Given the description of an element on the screen output the (x, y) to click on. 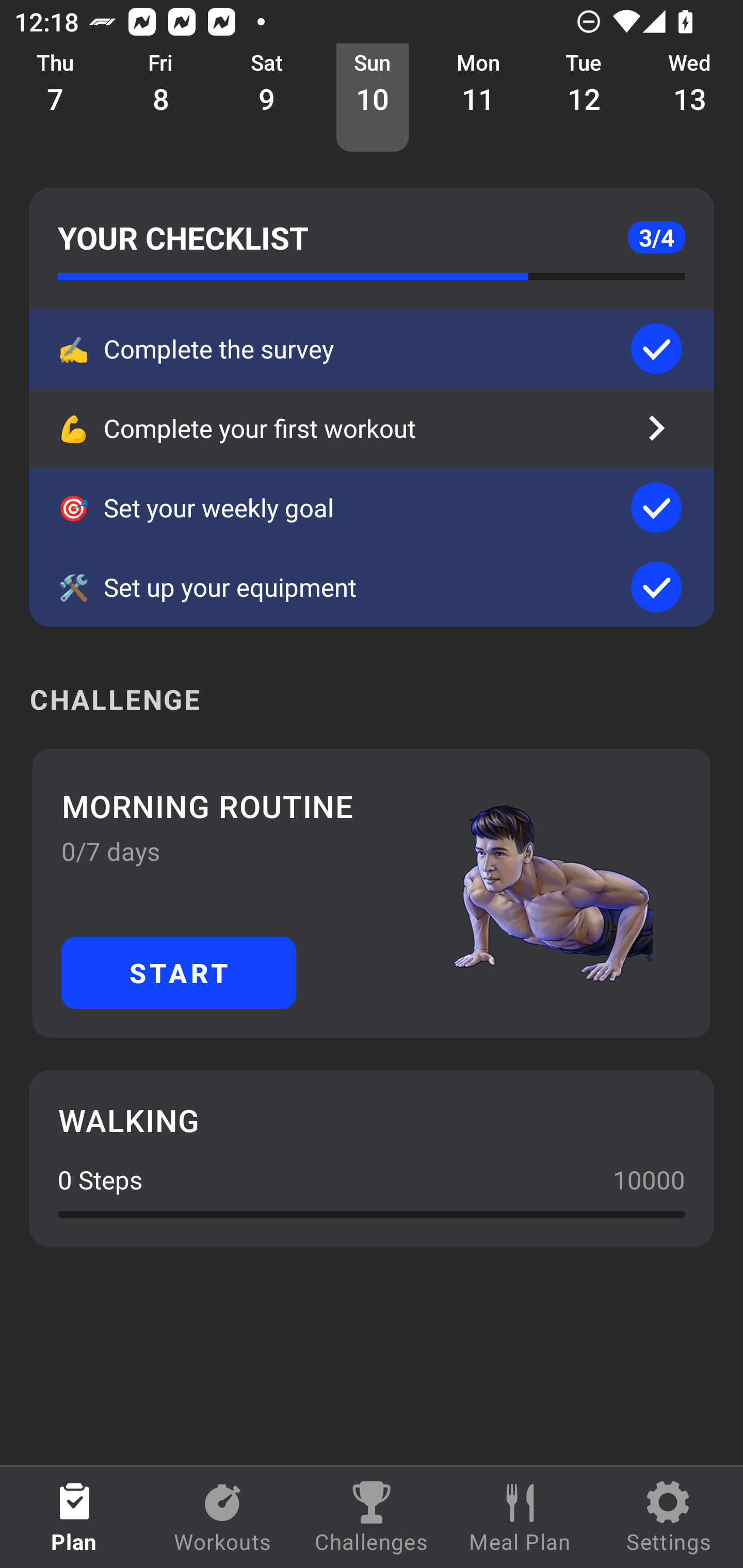
Thu 7 (55, 97)
Fri 8 (160, 97)
Sat 9 (266, 97)
Sun 10 (372, 97)
Mon 11 (478, 97)
Tue 12 (584, 97)
Wed 13 (690, 97)
💪 Complete your first workout (371, 427)
MORNING ROUTINE 0/7 days START (371, 892)
START (178, 972)
WALKING 0 Steps 10000 0.0 (371, 1158)
 Workouts  (222, 1517)
 Challenges  (371, 1517)
 Meal Plan  (519, 1517)
 Settings  (668, 1517)
